Given the description of an element on the screen output the (x, y) to click on. 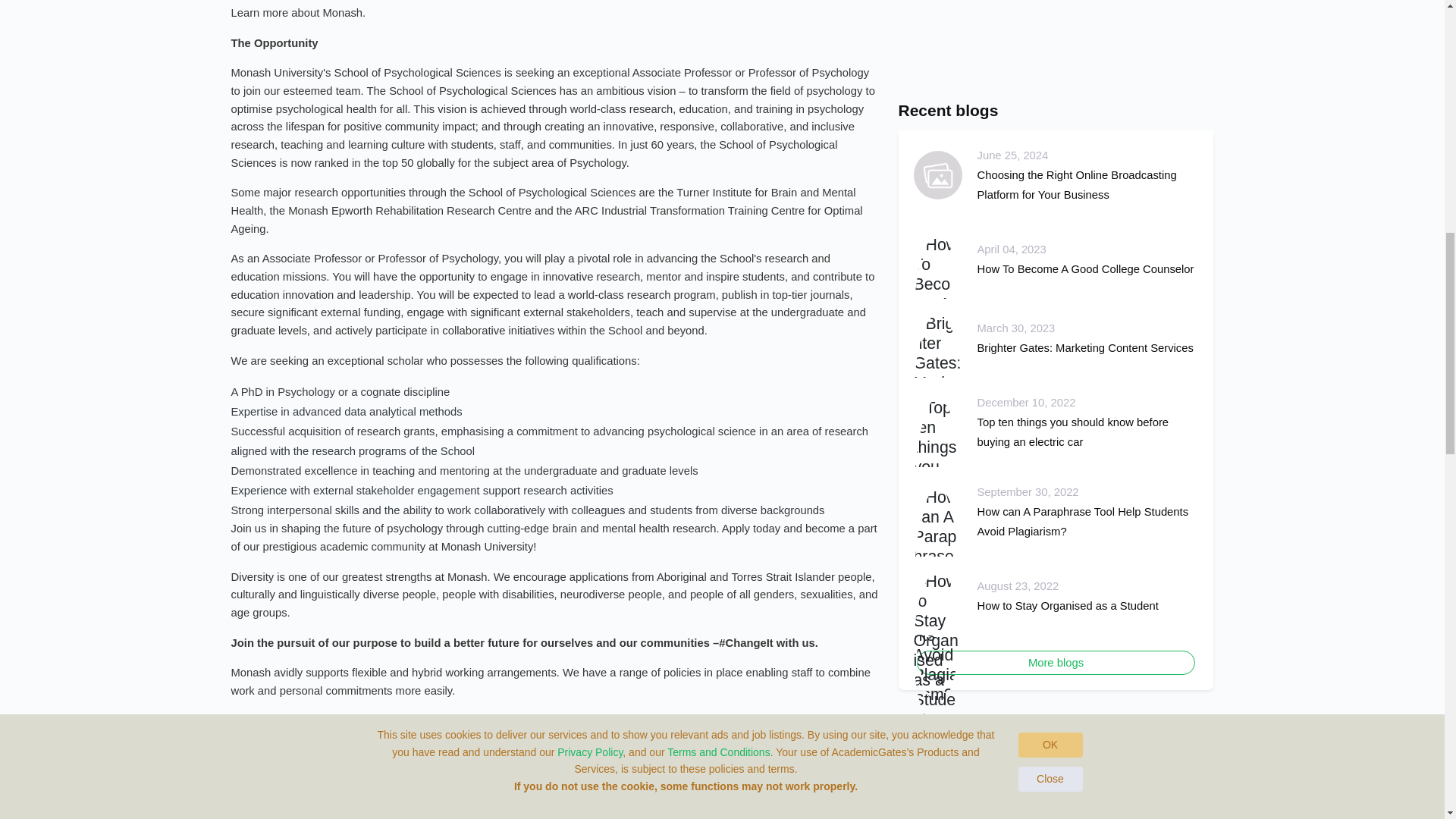
Advertisement (1055, 38)
